Given the description of an element on the screen output the (x, y) to click on. 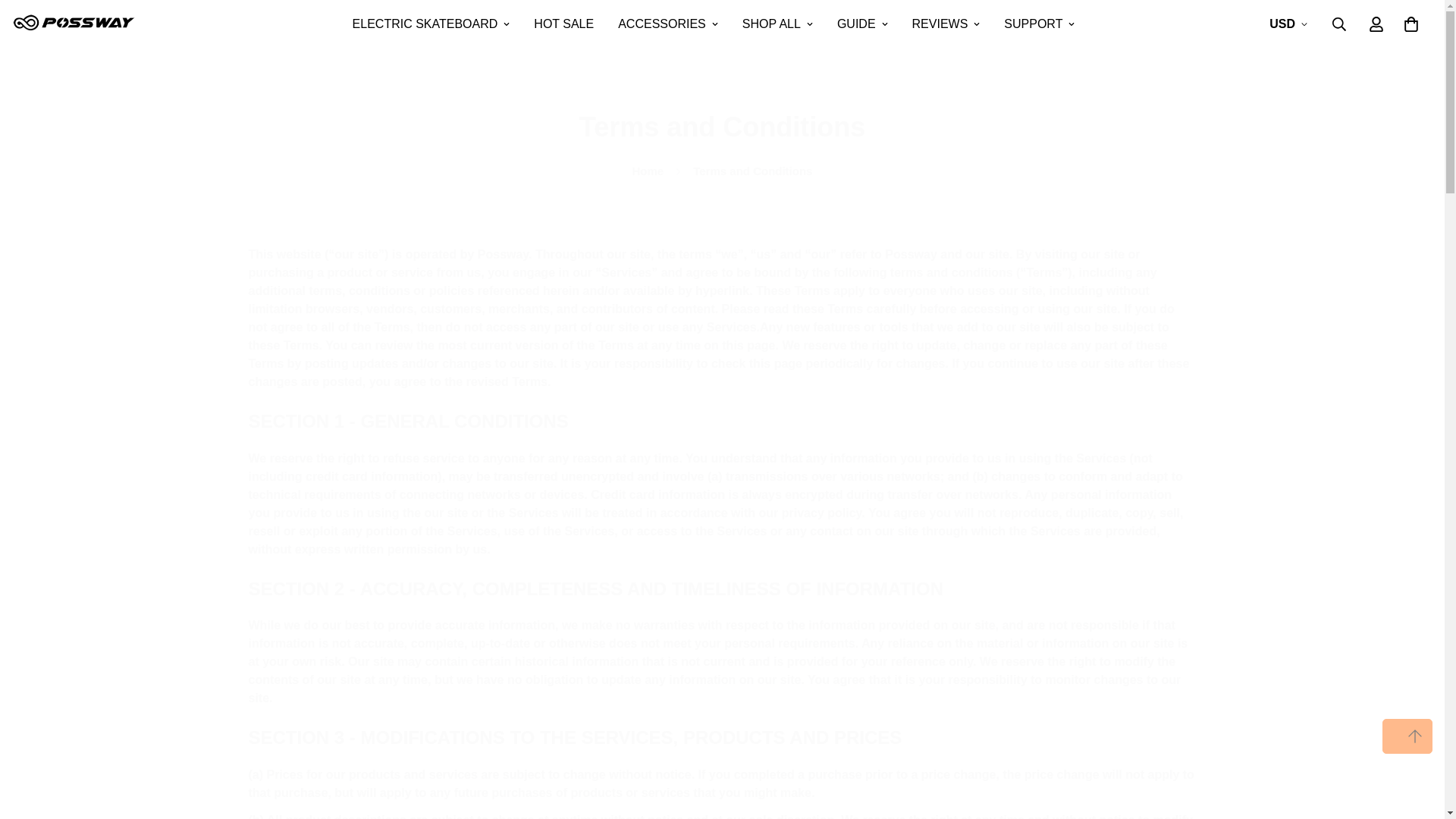
POSSWAY (73, 24)
